Given the description of an element on the screen output the (x, y) to click on. 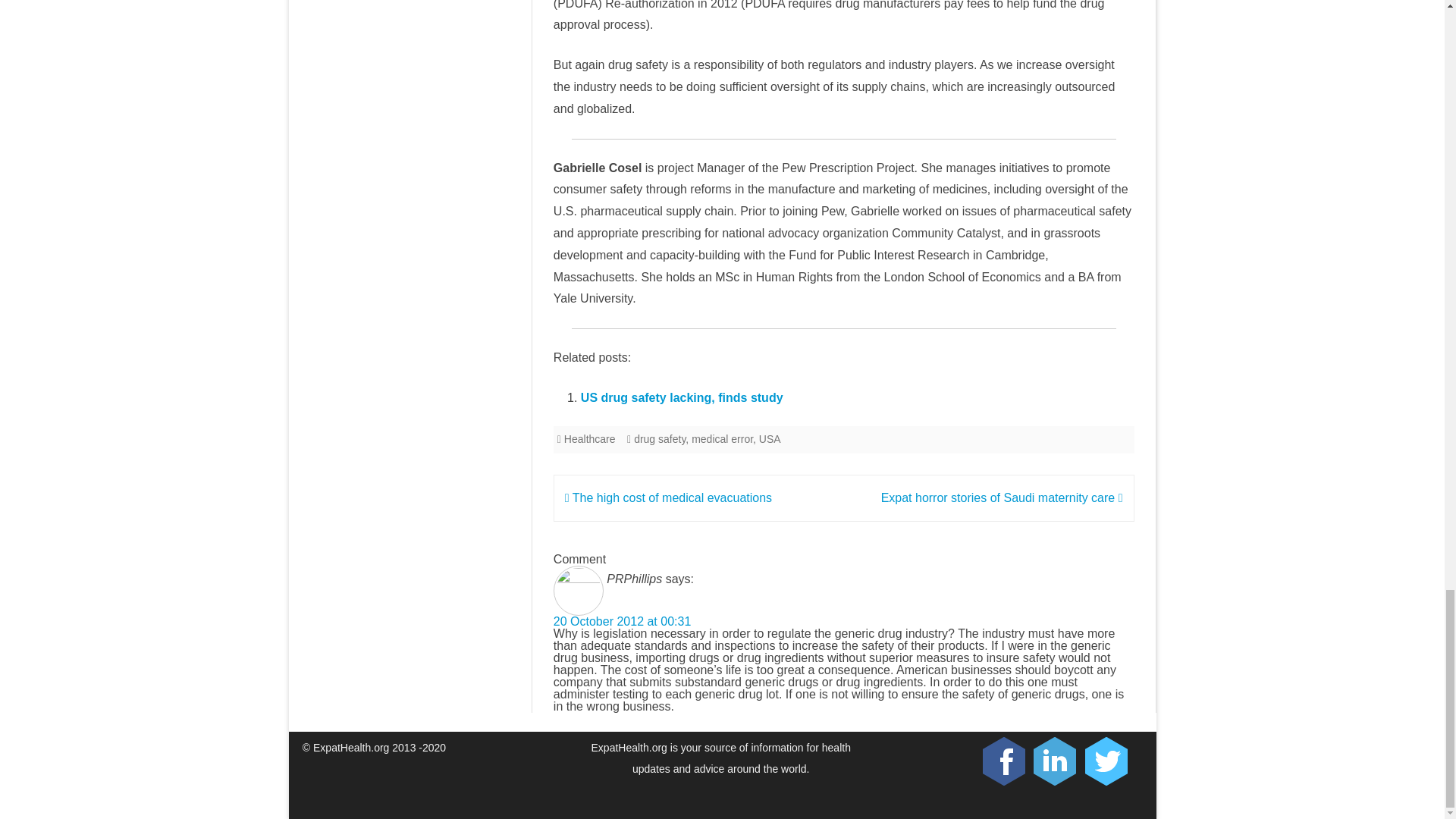
medical error (721, 439)
The high cost of medical evacuations (667, 497)
USA (769, 439)
US drug safety lacking, finds study (681, 397)
drug safety (659, 439)
US drug safety lacking, finds study (681, 397)
Healthcare (589, 439)
